Given the description of an element on the screen output the (x, y) to click on. 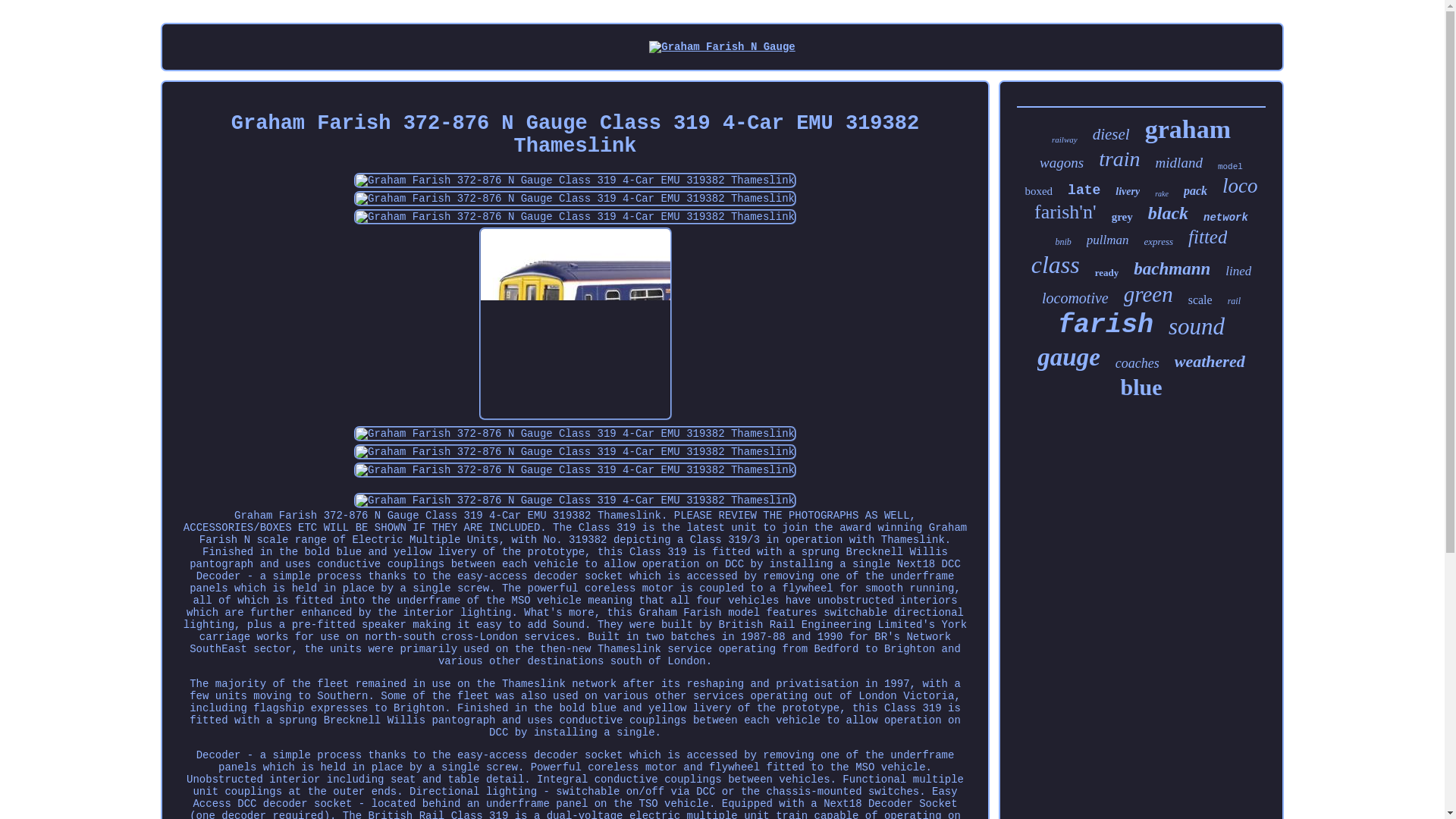
class (1055, 264)
grey (1122, 216)
fitted (1207, 237)
train (1119, 159)
black (1168, 213)
lined (1237, 271)
late (1083, 190)
ready (1106, 272)
boxed (1038, 191)
